Given the description of an element on the screen output the (x, y) to click on. 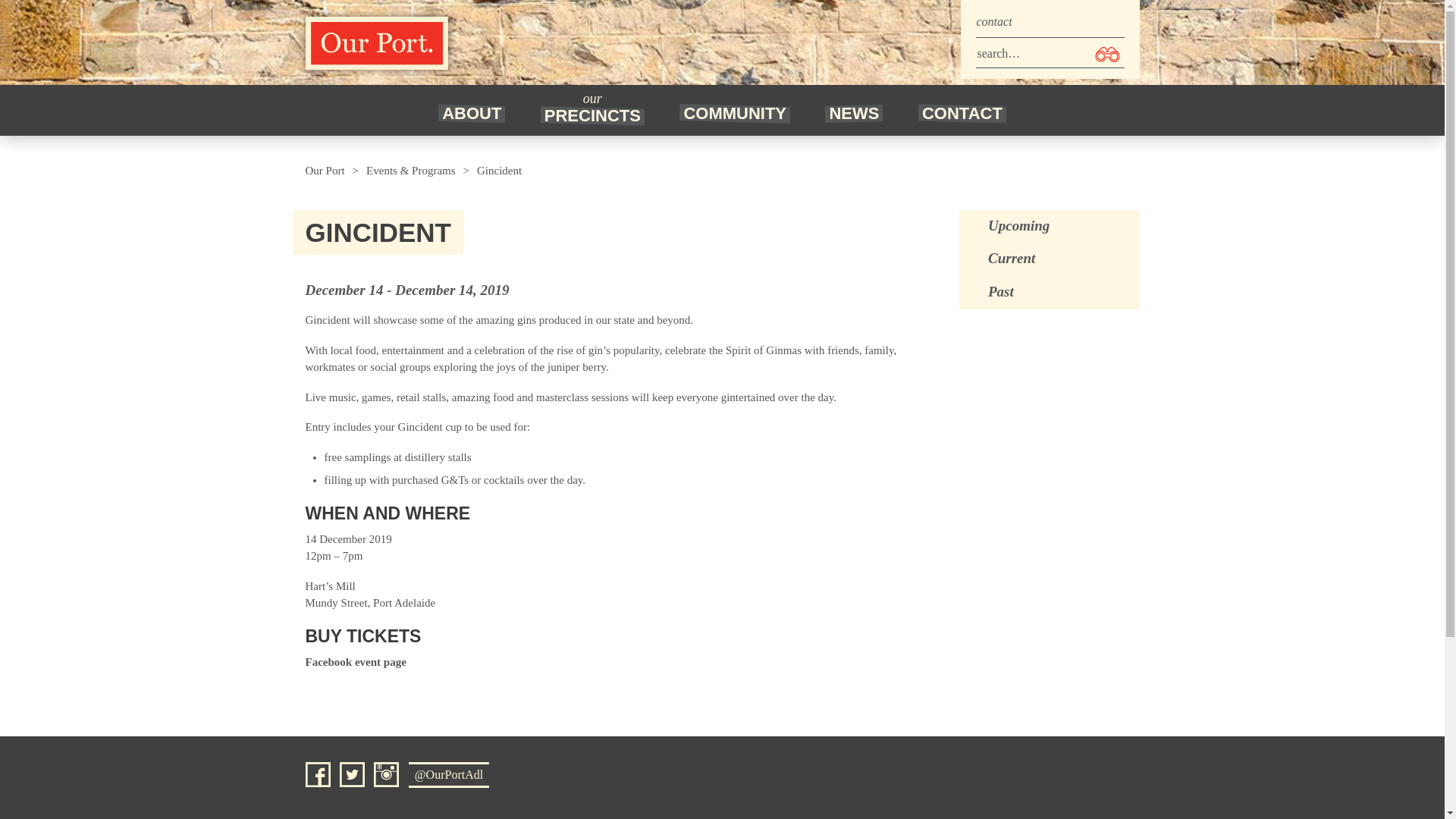
Search (1106, 54)
Current (1049, 259)
COMMUNITY (734, 110)
Upcoming (1049, 225)
Search for: (1049, 53)
Instagram (386, 774)
NEWS (853, 110)
Our Port (323, 170)
ABOUT (471, 110)
Our Port (375, 42)
